Given the description of an element on the screen output the (x, y) to click on. 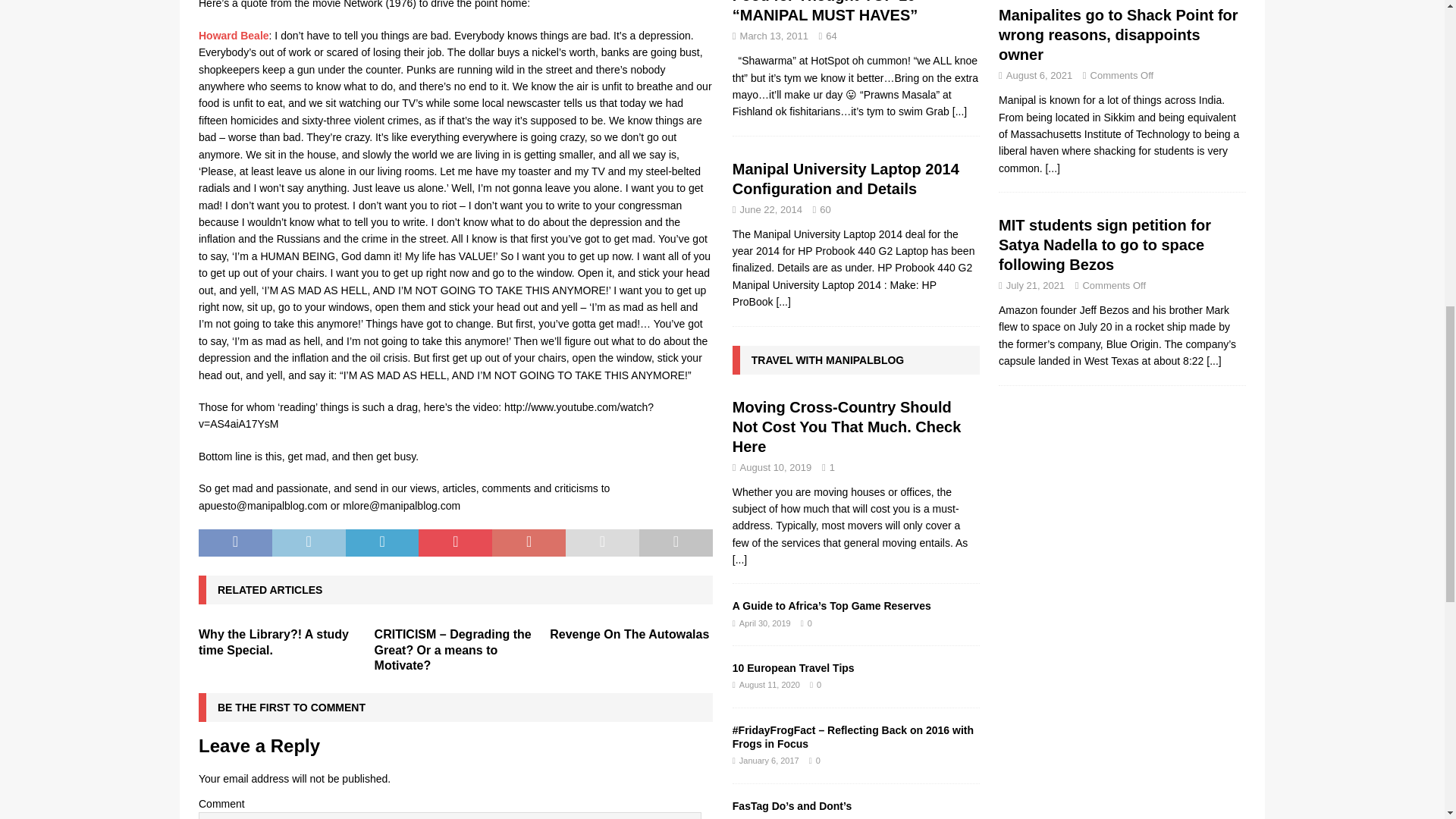
Howard Beale (233, 35)
